Given the description of an element on the screen output the (x, y) to click on. 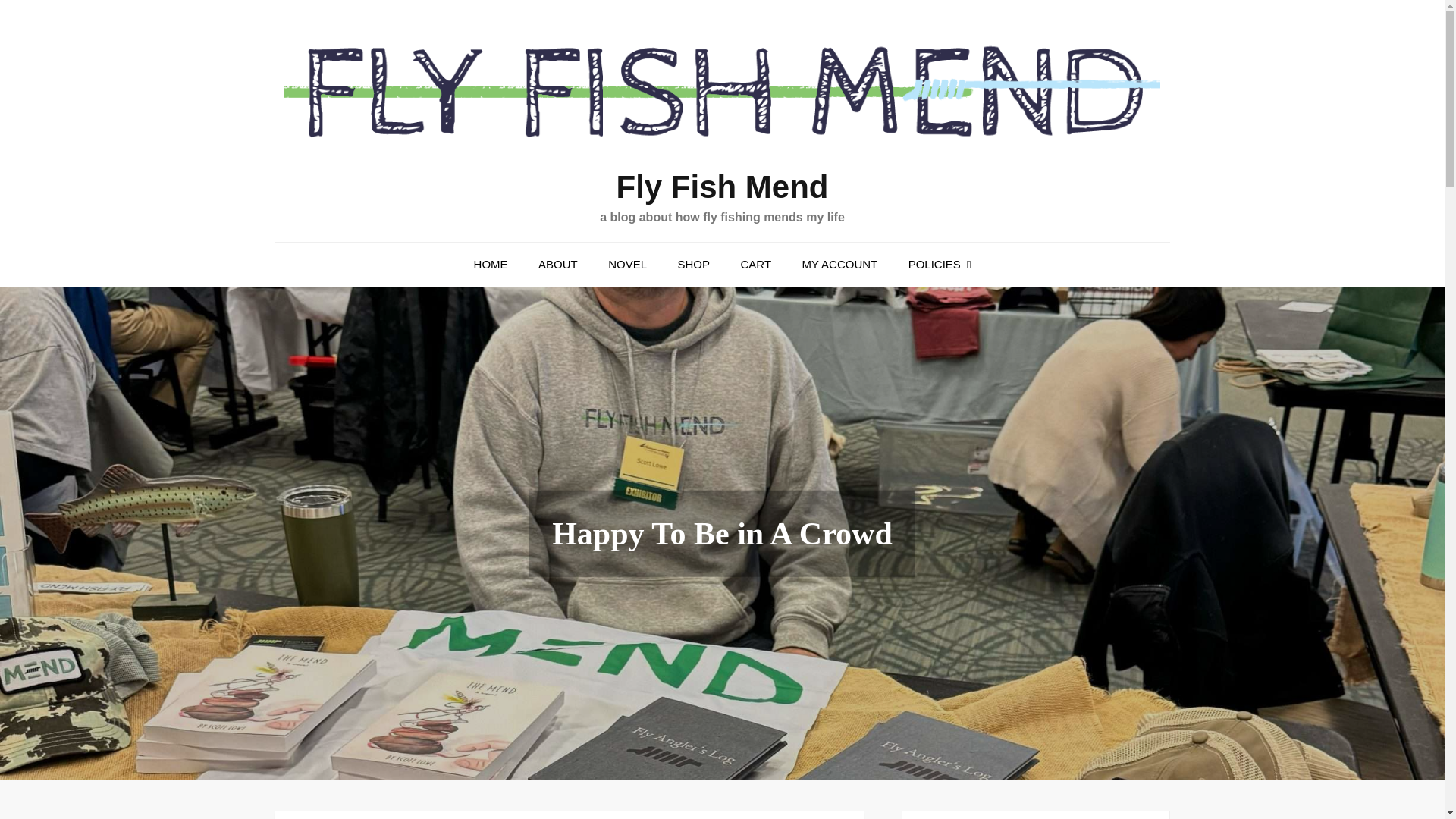
POLICIES (940, 264)
HOME (490, 264)
CART (755, 264)
MY ACCOUNT (840, 264)
ABOUT (557, 264)
Fly Fish Mend (721, 186)
NOVEL (627, 264)
SHOP (693, 264)
